Given the description of an element on the screen output the (x, y) to click on. 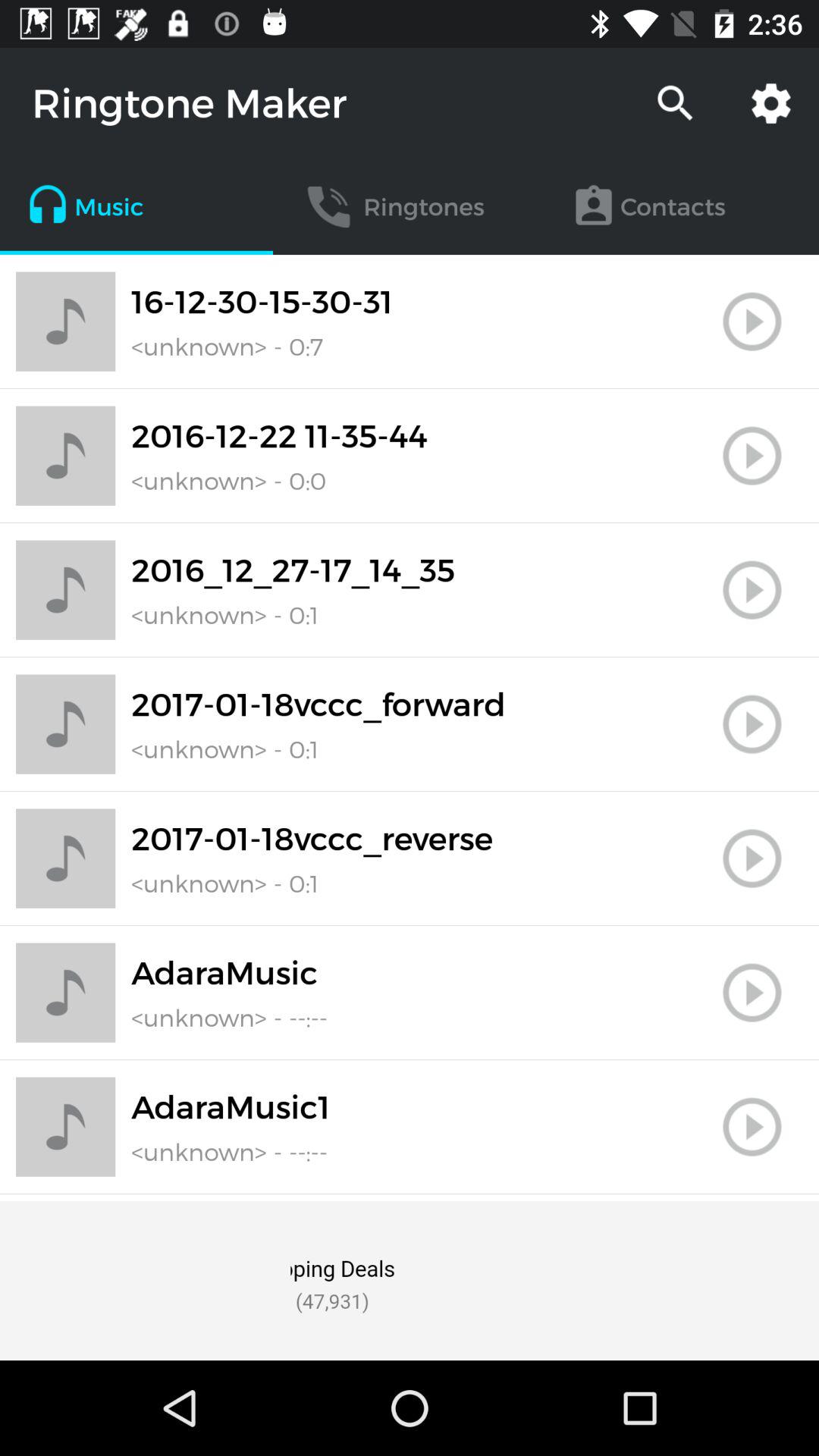
play ringtone (752, 321)
